Given the description of an element on the screen output the (x, y) to click on. 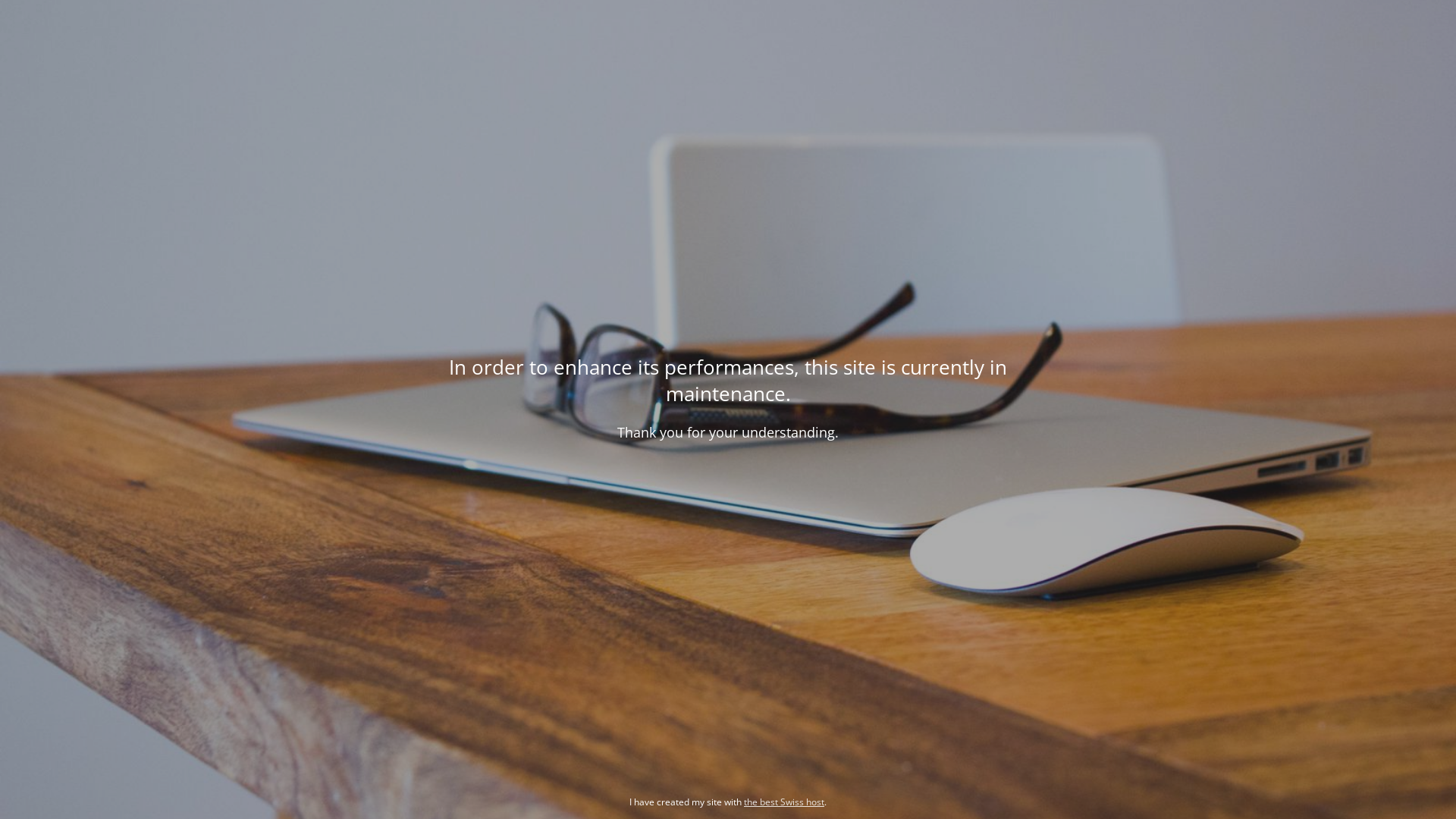
the best Swiss host Element type: text (783, 801)
